Given the description of an element on the screen output the (x, y) to click on. 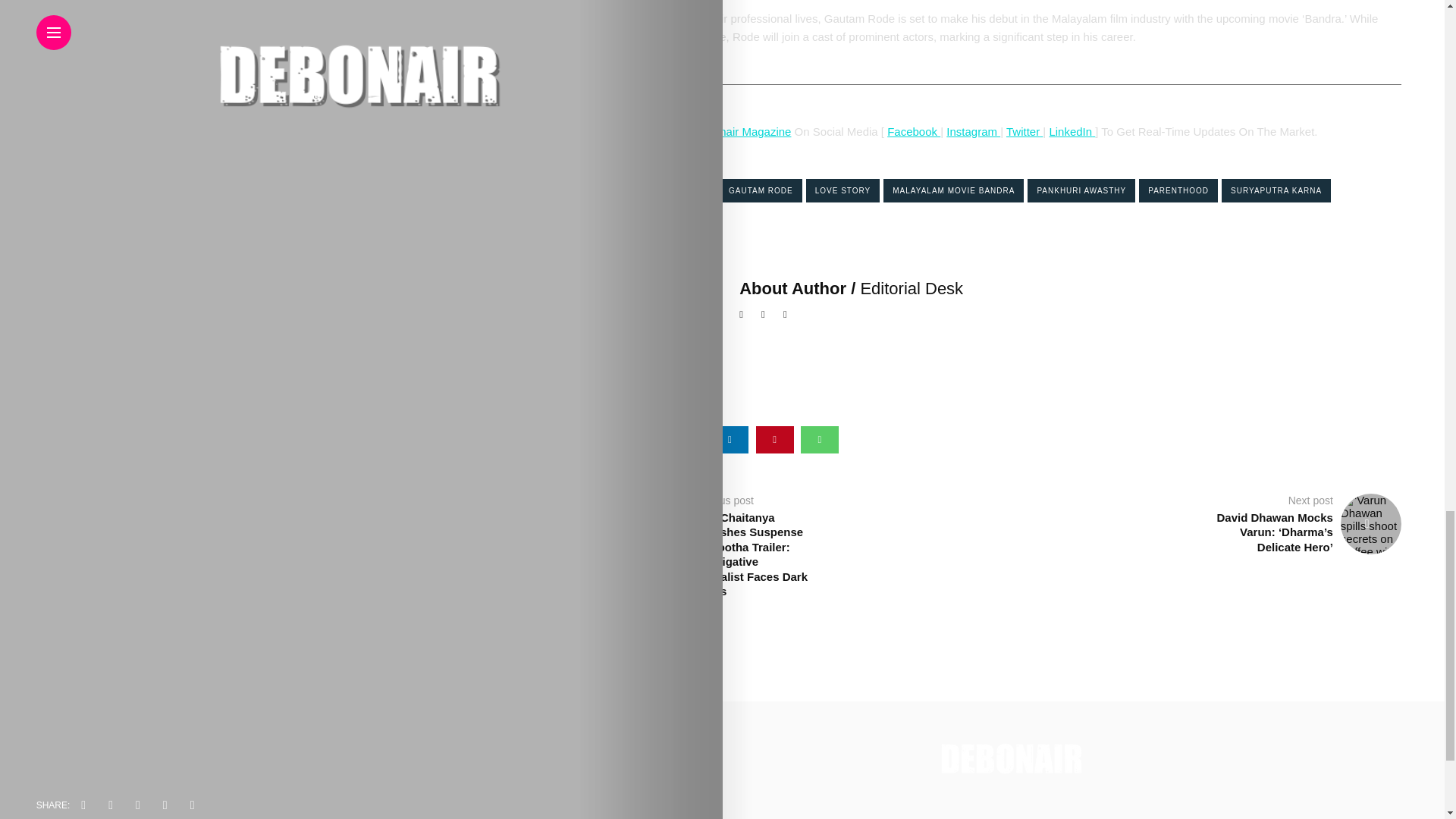
GAUTAM RODE (760, 190)
BEACH VACATION (668, 190)
Instagram  (973, 131)
Posts by Editorial Desk (911, 288)
Twitter (1022, 131)
Debonair Magazine (741, 131)
LinkedIn (1070, 131)
Facebook  (913, 131)
facebook (640, 439)
